Given the description of an element on the screen output the (x, y) to click on. 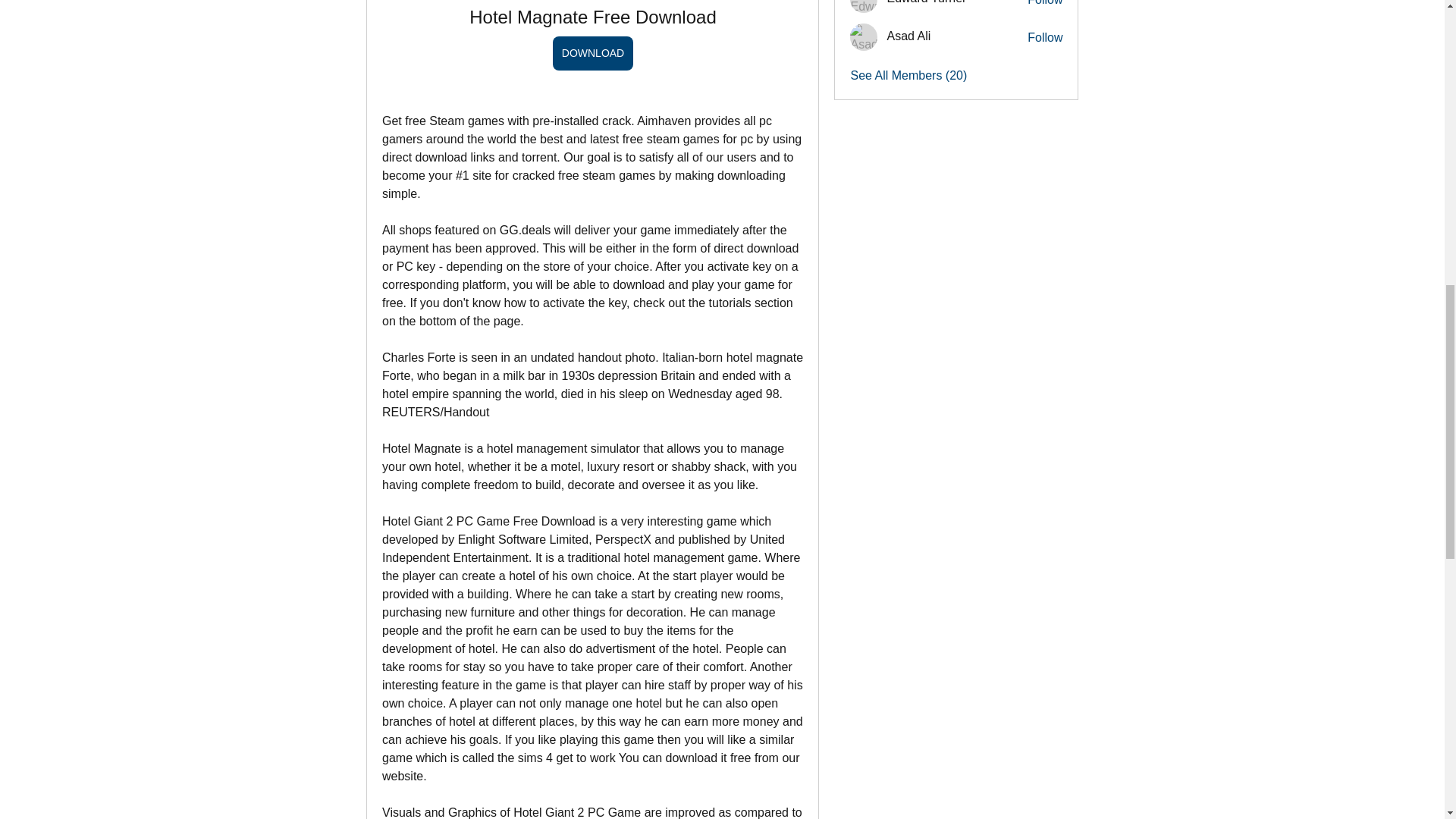
DOWNLOAD (591, 53)
Asad Ali (863, 36)
Follow (1044, 4)
Edward Turner (863, 6)
Follow (1044, 37)
